Given the description of an element on the screen output the (x, y) to click on. 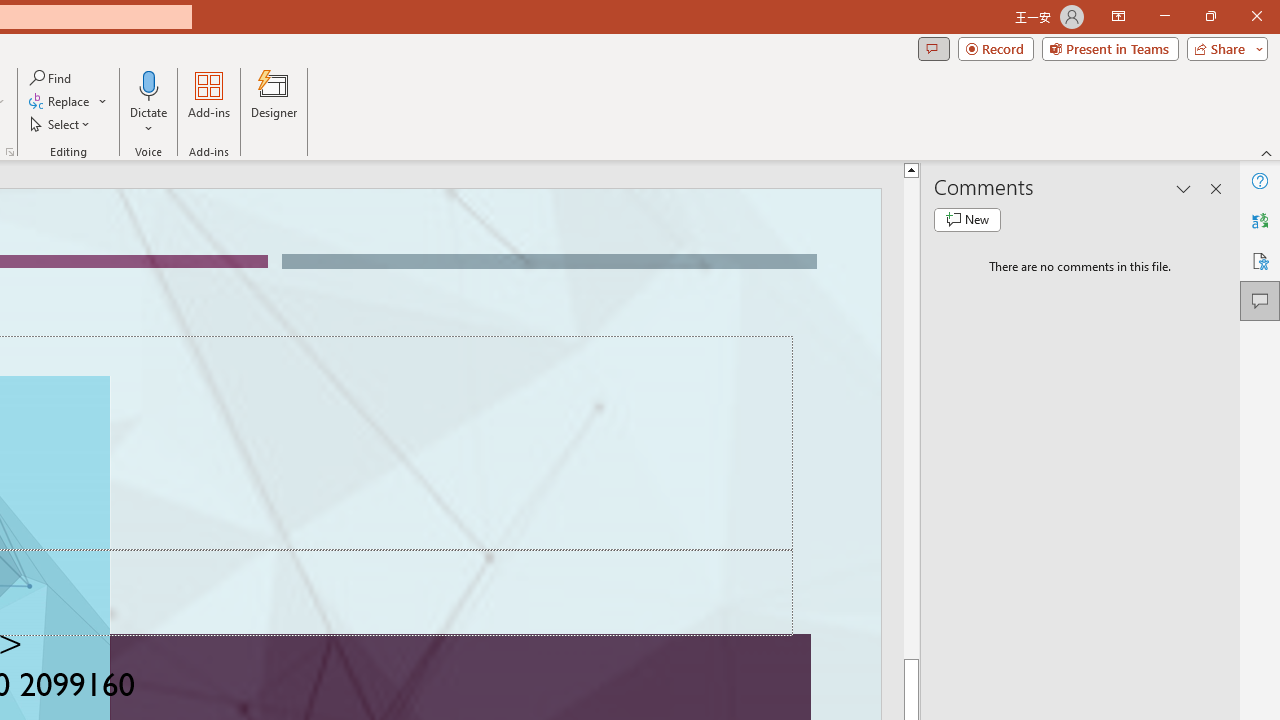
Minimize (1164, 16)
Designer (274, 102)
Close pane (1215, 188)
Line up (911, 169)
Share (1223, 48)
Accessibility (1260, 260)
Collapse the Ribbon (1267, 152)
Translator (1260, 220)
More Options (149, 121)
Help (1260, 180)
Select (61, 124)
Task Pane Options (1183, 188)
Restore Down (1210, 16)
